Given the description of an element on the screen output the (x, y) to click on. 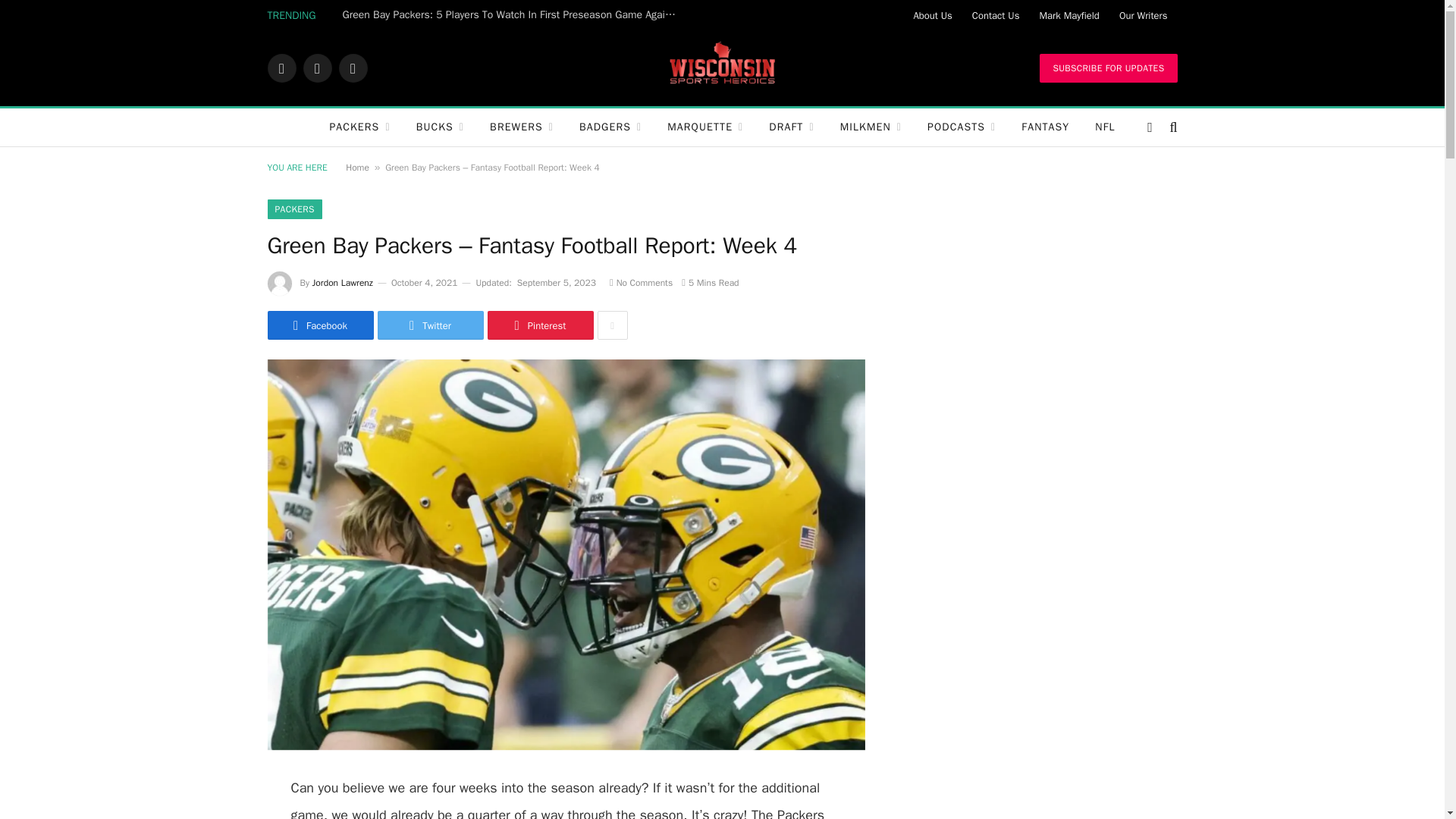
RSS (351, 68)
Contact Us (995, 15)
WI Sports Heroics (721, 68)
BREWERS (521, 127)
Our Writers (1143, 15)
BUCKS (440, 127)
SUBSCRIBE FOR UPDATES (1107, 68)
Mark Mayfield (1068, 15)
Posts by Jordon Lawrenz (342, 282)
Facebook (280, 68)
Switch to Dark Design - easier on eyes. (1149, 127)
PACKERS (359, 127)
About Us (931, 15)
